Given the description of an element on the screen output the (x, y) to click on. 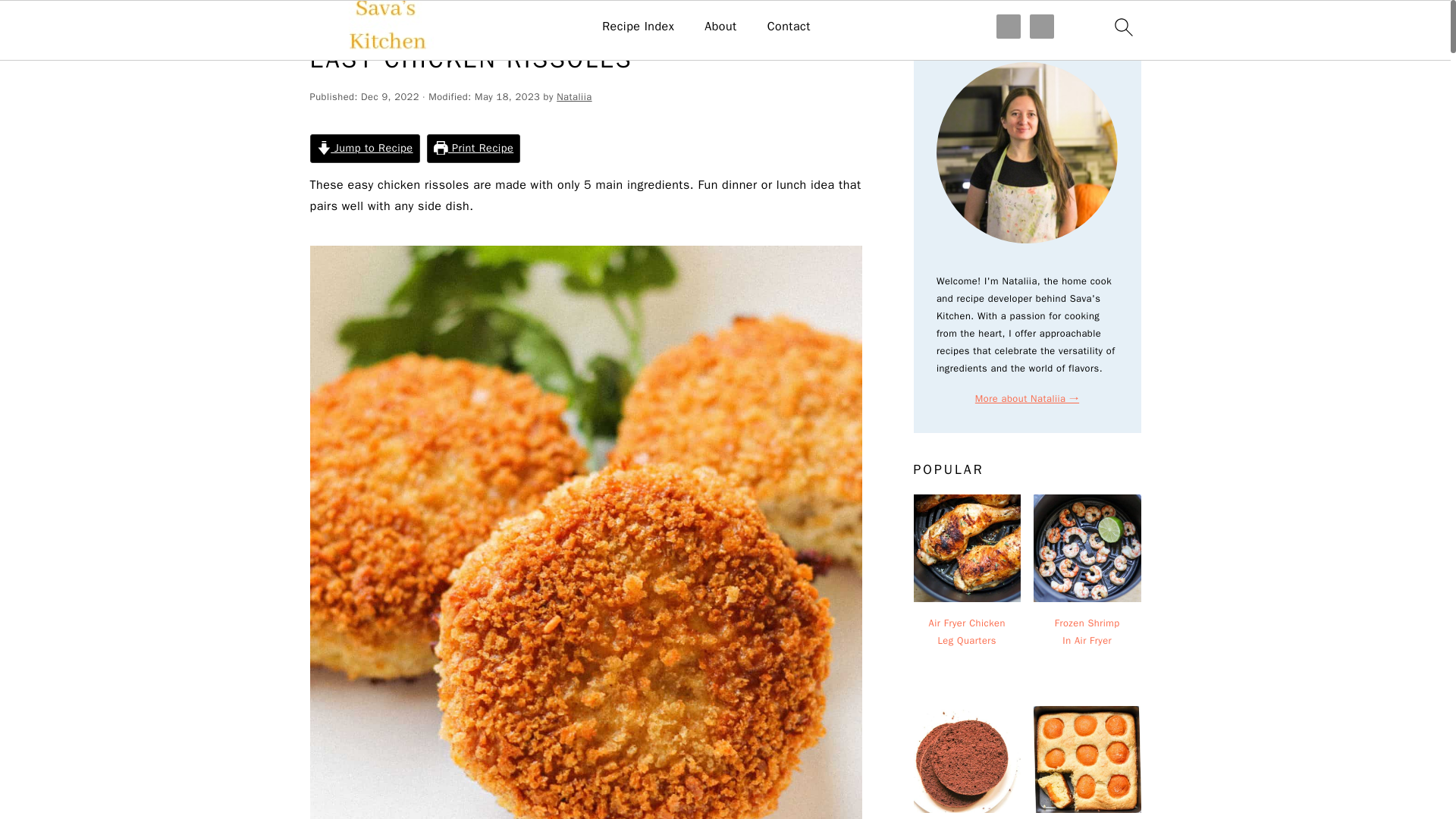
search icon (1122, 26)
Home (322, 23)
Nataliia (573, 96)
Jump to Recipe (363, 148)
Poultry (409, 23)
search icon (1122, 31)
About (720, 26)
Recipes (365, 23)
Recipe Index (638, 26)
Contact (788, 26)
